Given the description of an element on the screen output the (x, y) to click on. 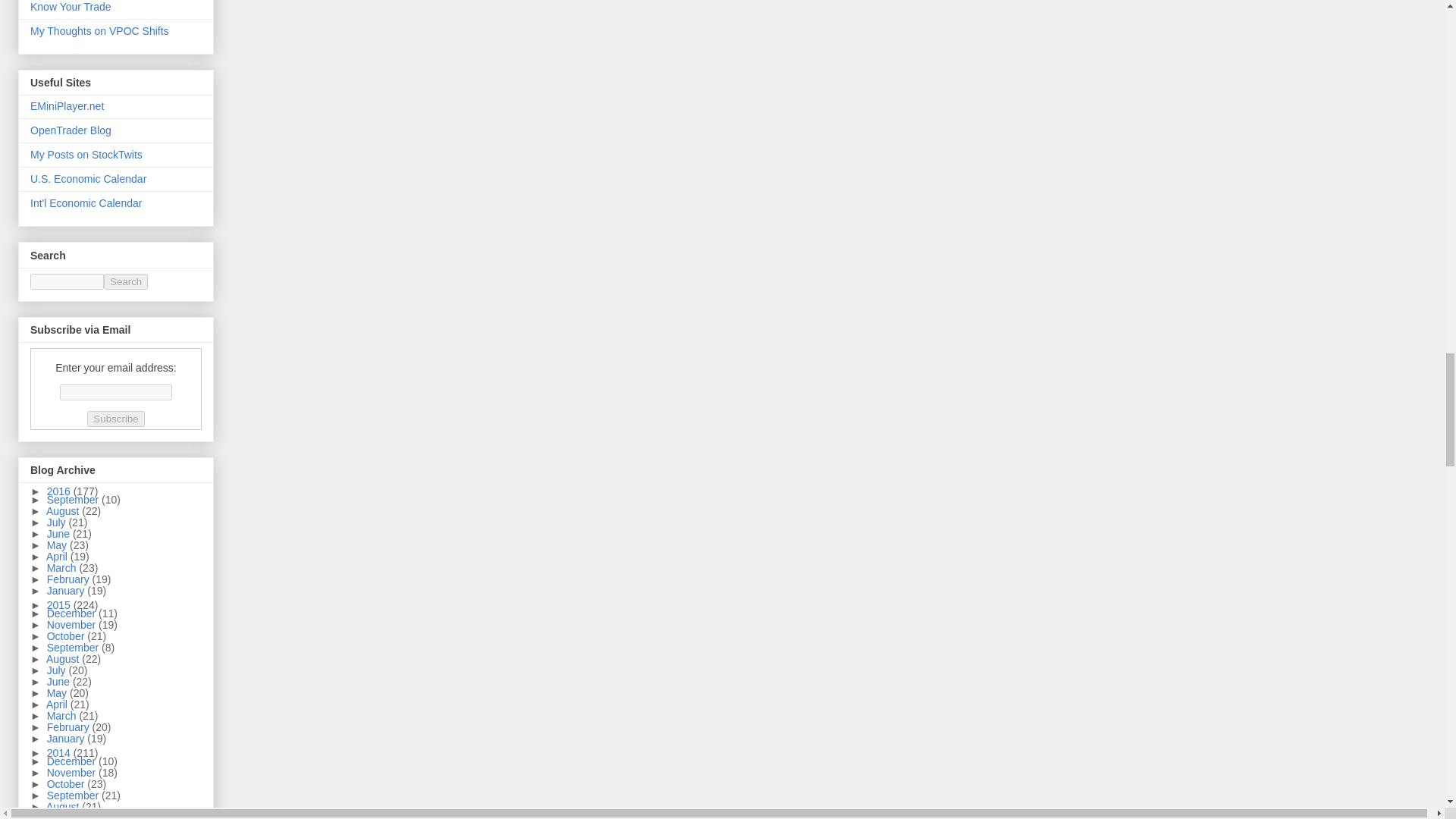
search (125, 281)
Search (125, 281)
search (66, 281)
Search (125, 281)
Subscribe (115, 418)
